Given the description of an element on the screen output the (x, y) to click on. 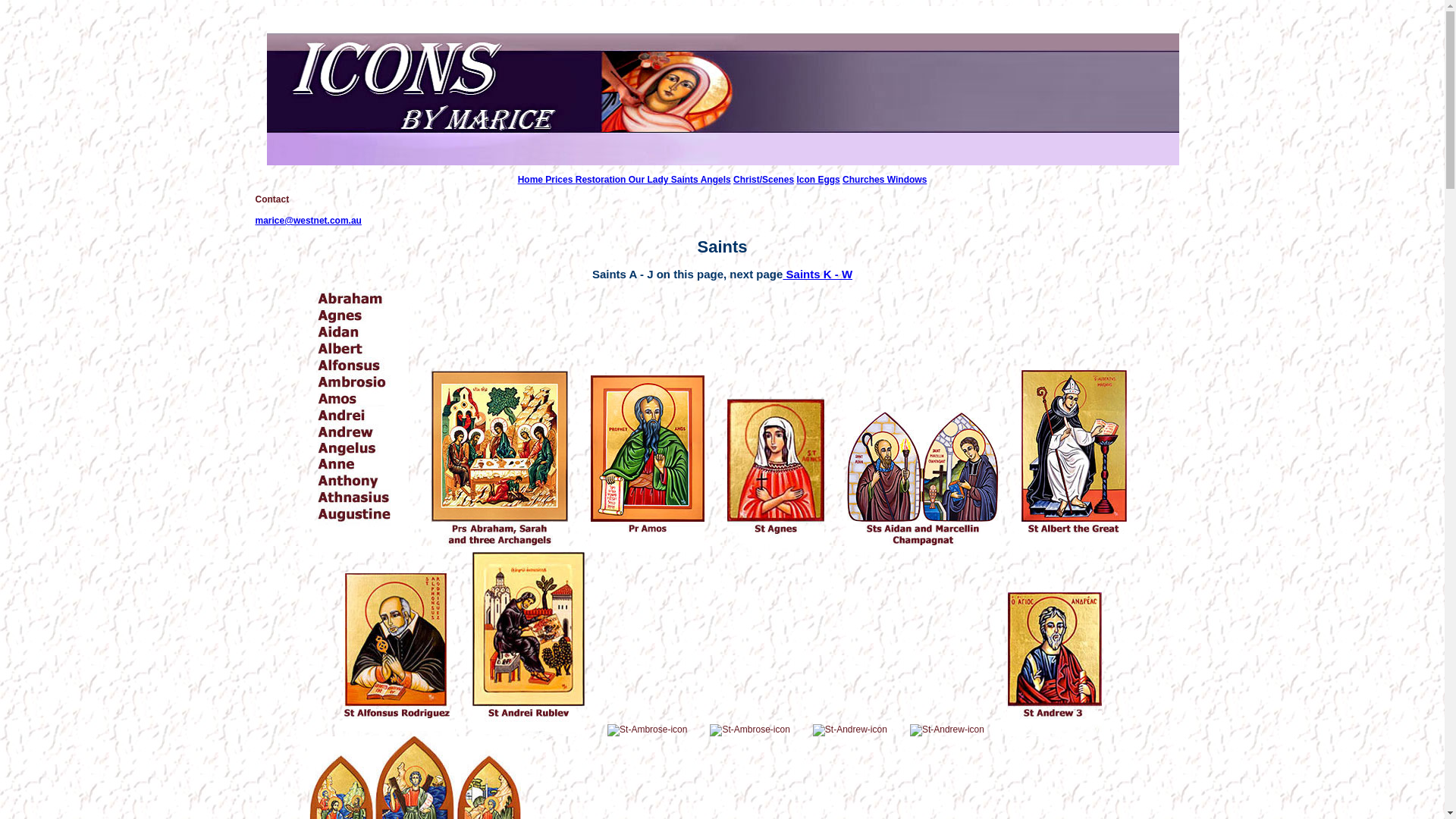
Our Lady Element type: text (648, 179)
Churches Element type: text (864, 179)
Home Element type: text (531, 179)
Saints K - W Element type: text (817, 273)
Icon Eggs Element type: text (817, 179)
Restoration Element type: text (601, 179)
Christ/Scenes Element type: text (763, 179)
Saints Element type: text (683, 179)
Prices Element type: text (559, 179)
Windows Element type: text (907, 179)
marice@westnet.com.au Element type: text (307, 220)
Angels Element type: text (715, 179)
